Given the description of an element on the screen output the (x, y) to click on. 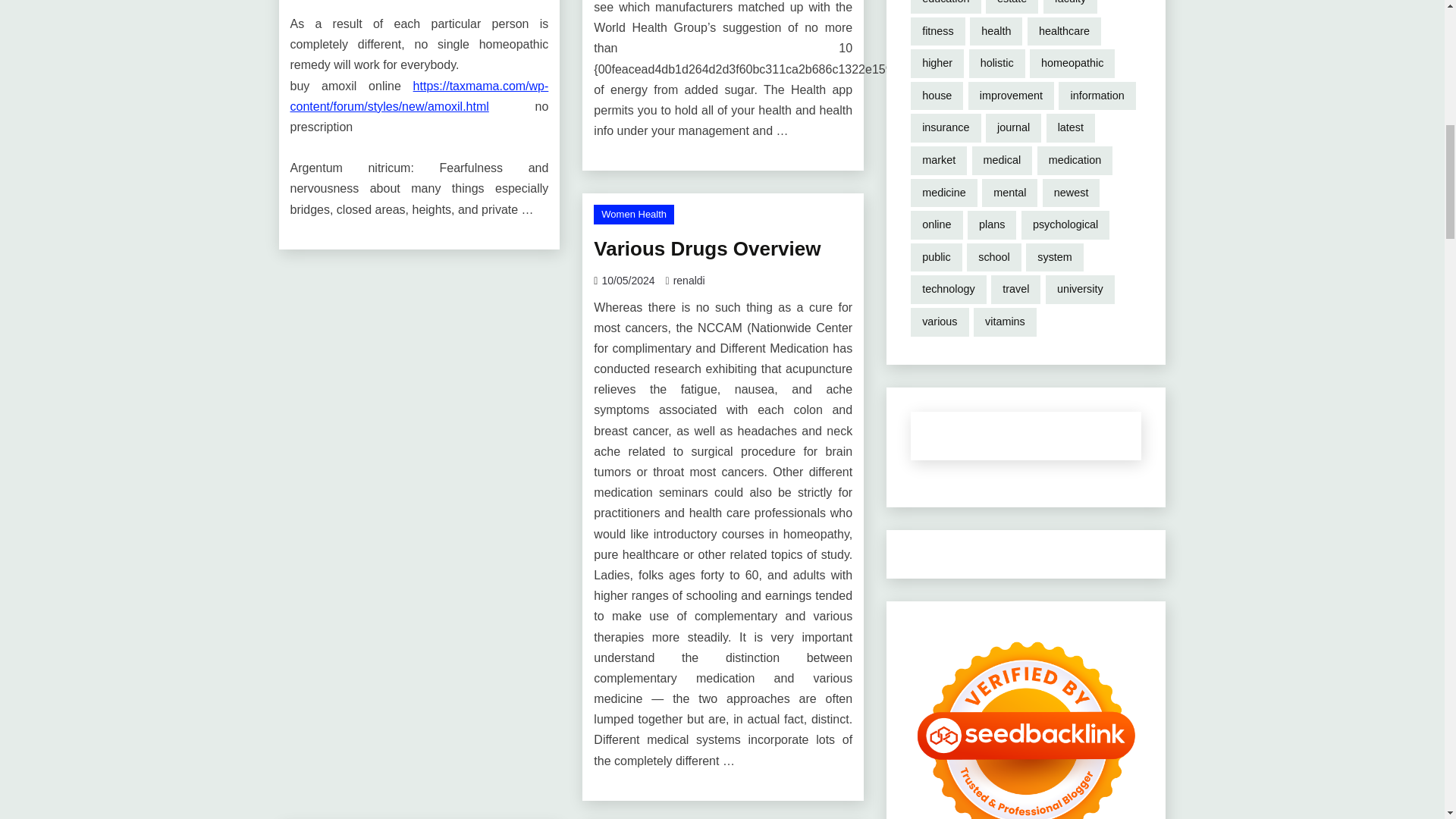
Various Drugs Overview (707, 248)
Seedbacklink (1026, 722)
renaldi (688, 280)
Women Health (634, 214)
